Given the description of an element on the screen output the (x, y) to click on. 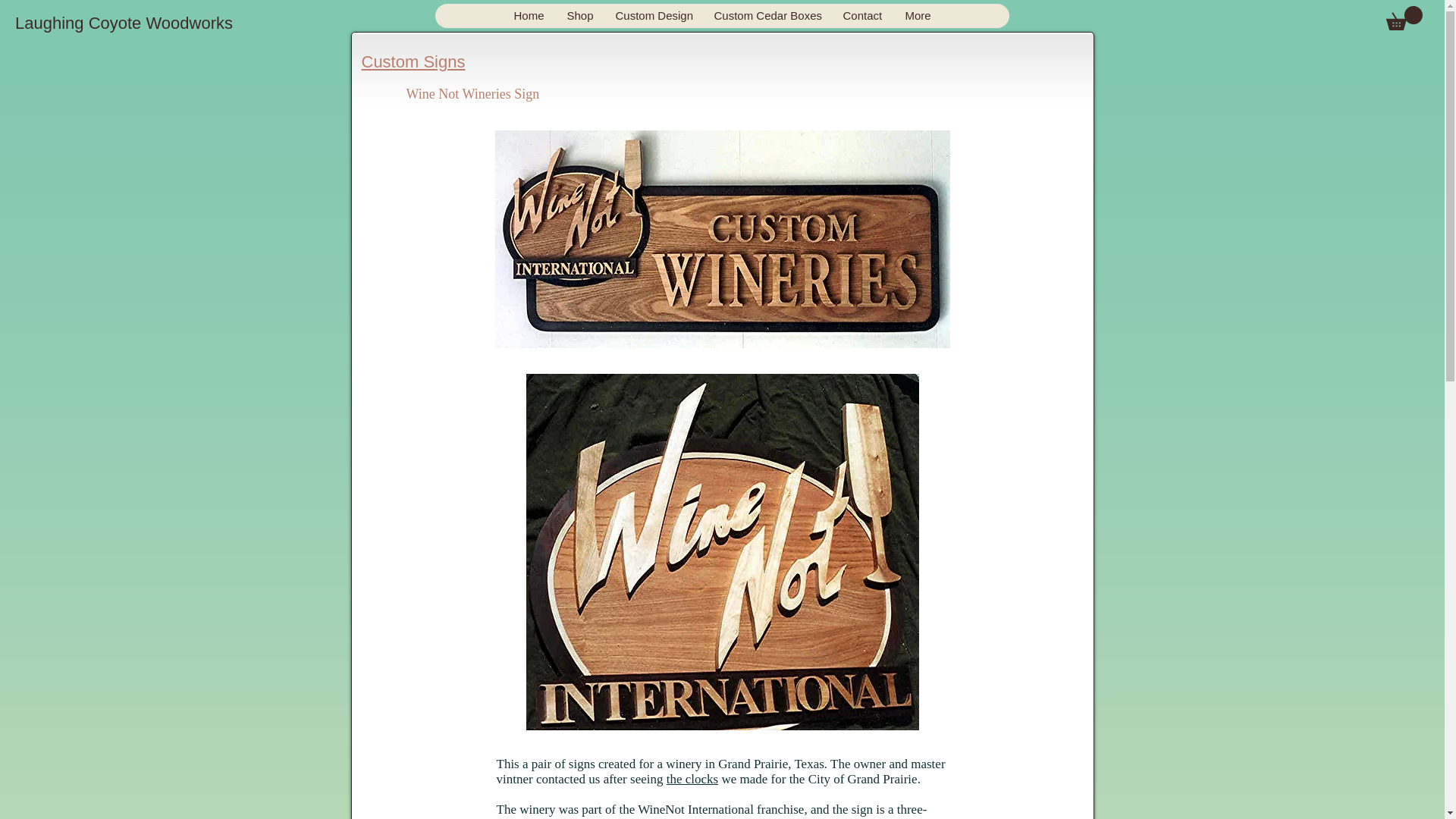
Contact (862, 15)
Custom Signs (412, 61)
Custom Design (652, 15)
Home (528, 15)
Laughing Coyote Woodworks (123, 23)
the clocks (691, 779)
wine not sign3.jpg (722, 239)
Custom Cedar Boxes (766, 15)
Shop (579, 15)
